Given the description of an element on the screen output the (x, y) to click on. 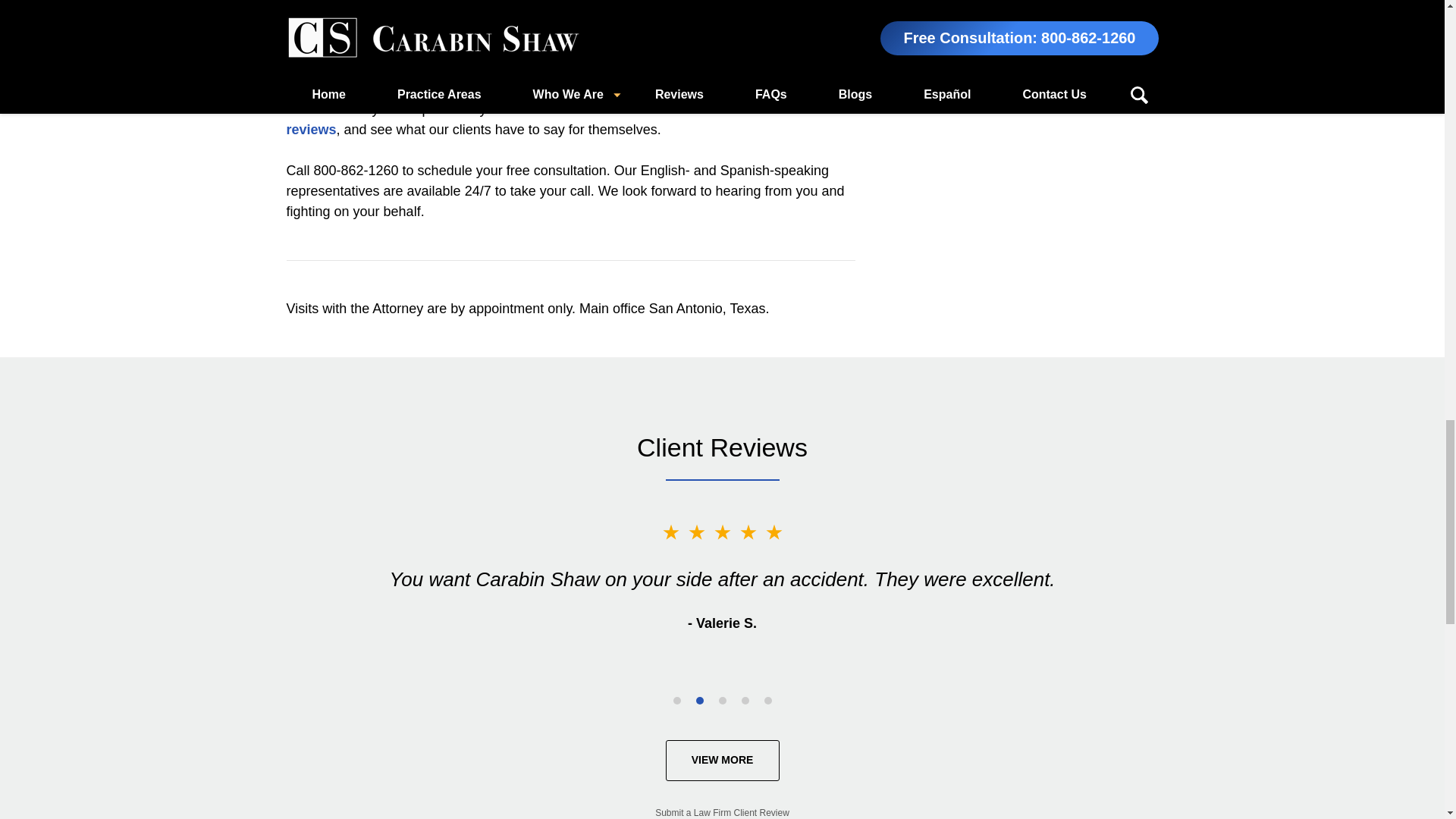
client reviews (555, 119)
